Given the description of an element on the screen output the (x, y) to click on. 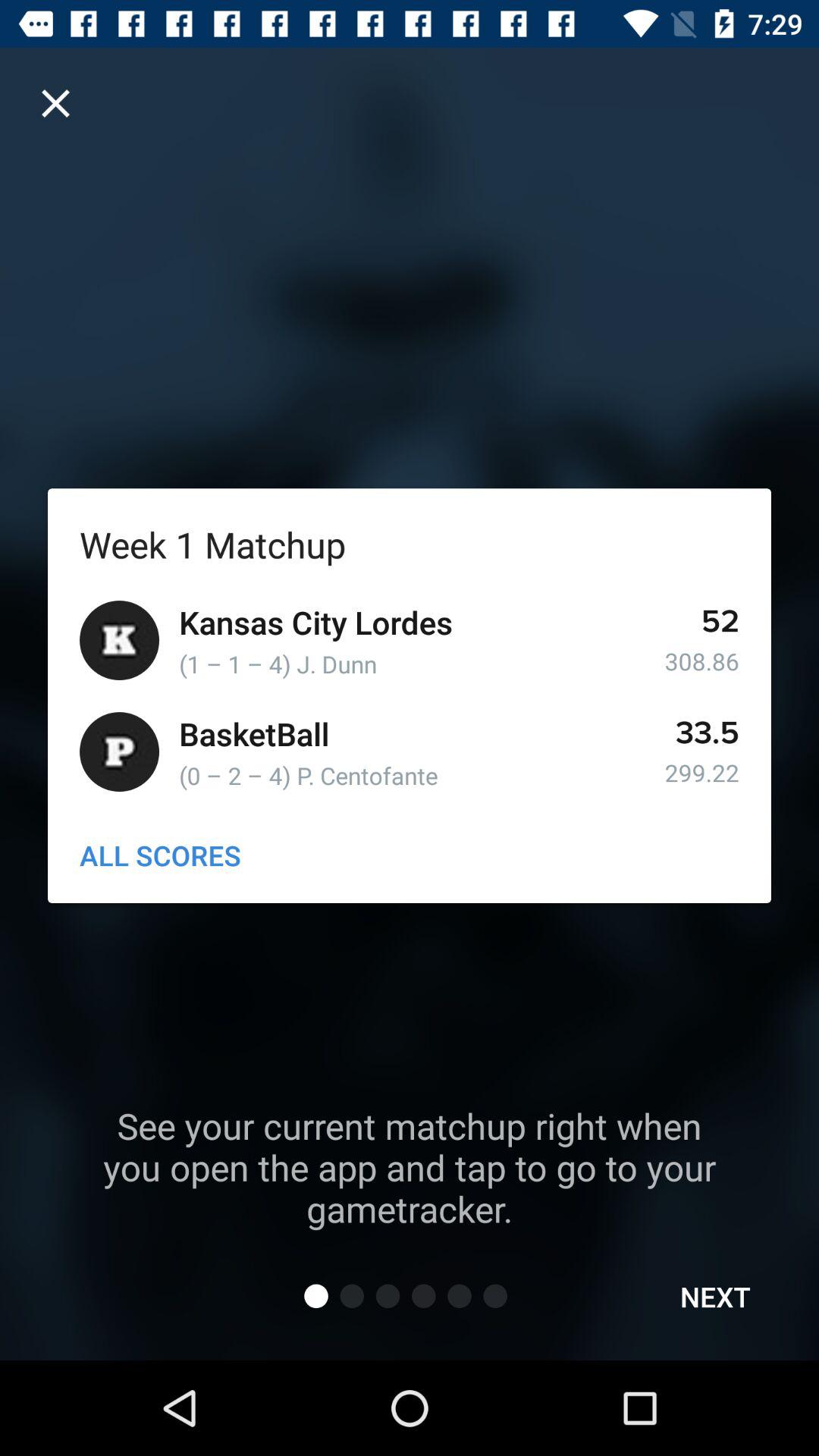
skip guide (55, 103)
